Given the description of an element on the screen output the (x, y) to click on. 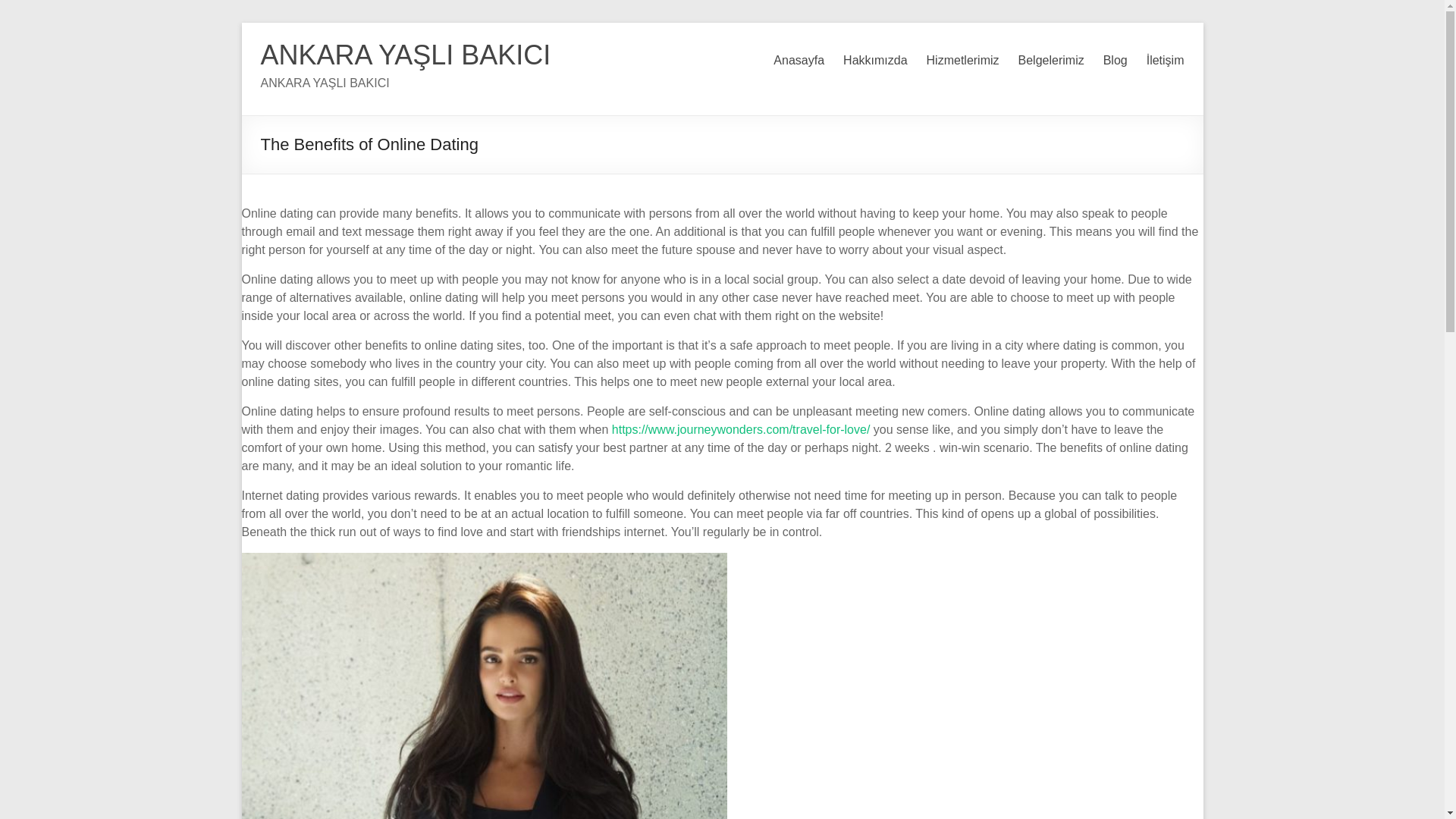
Blog (1114, 60)
Hizmetlerimiz (962, 60)
Belgelerimiz (1050, 60)
Anasayfa (798, 60)
